Given the description of an element on the screen output the (x, y) to click on. 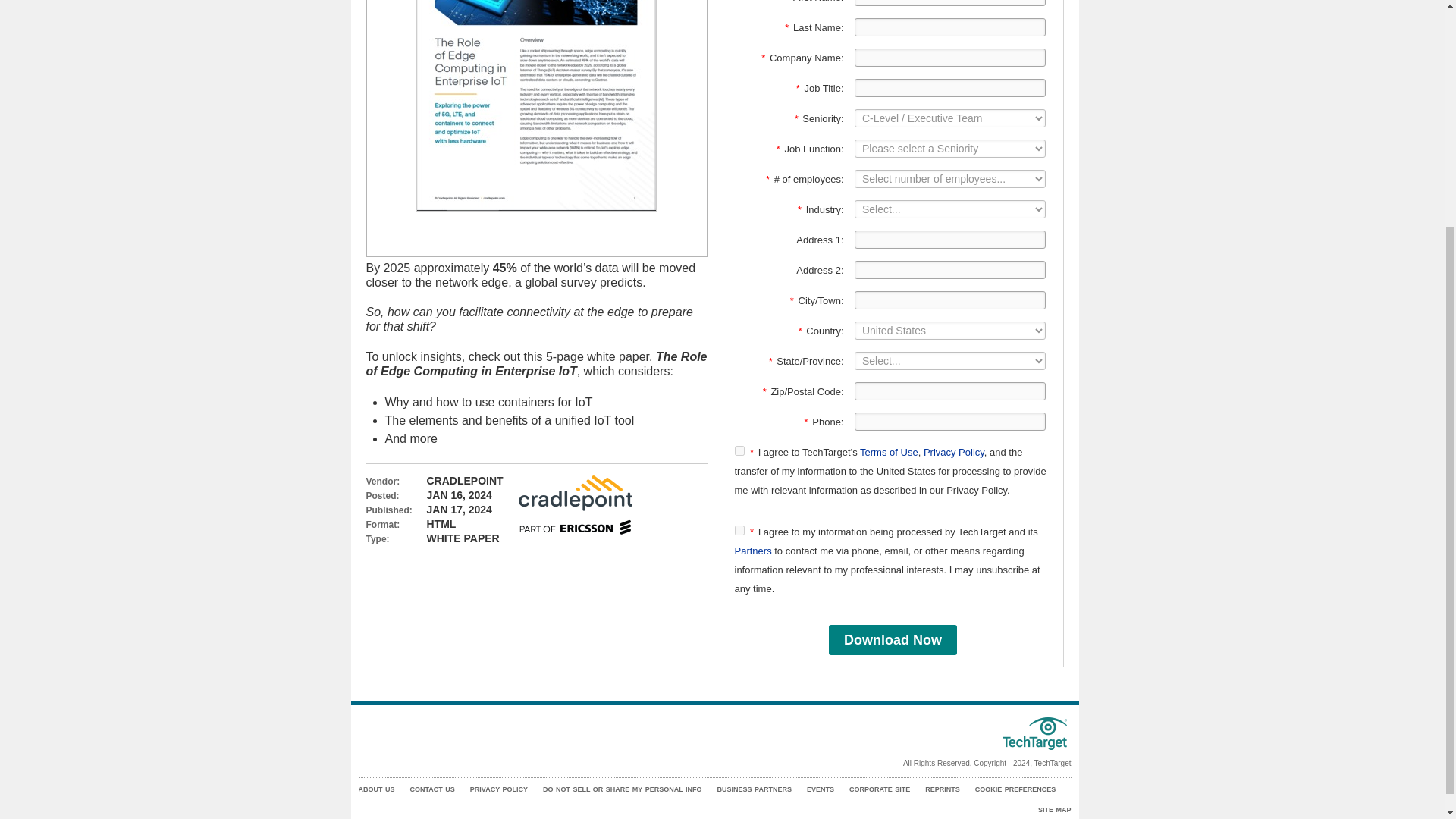
Partners (752, 550)
Download Now (892, 639)
Privacy Policy (953, 451)
COOKIE PREFERENCES (1016, 789)
PRIVACY POLICY (498, 789)
CONTACT US (431, 789)
SITE MAP (1054, 809)
true (738, 530)
true (738, 450)
REPRINTS (941, 789)
